Given the description of an element on the screen output the (x, y) to click on. 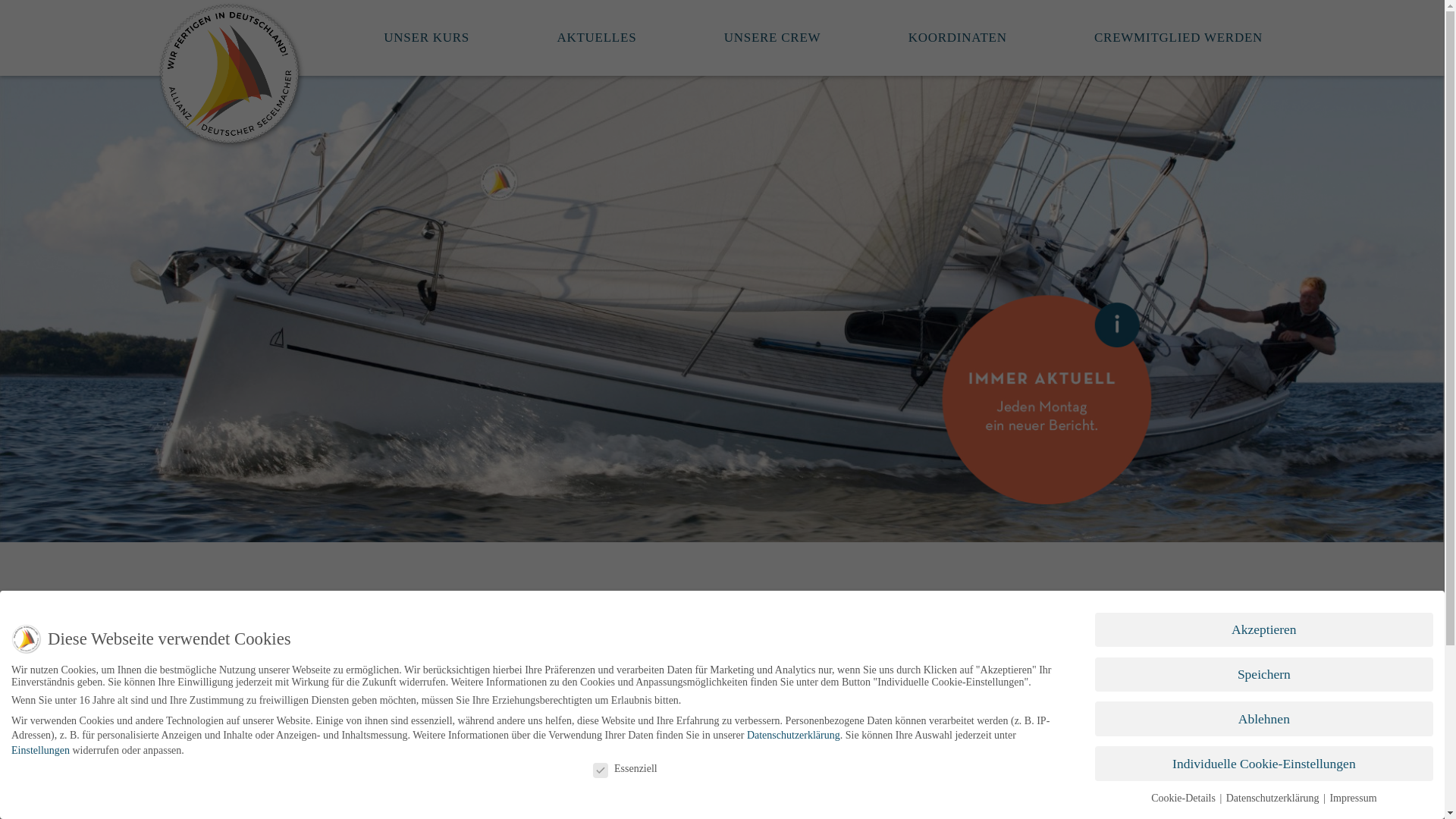
CREWMITGLIED WERDEN (1178, 37)
Unsere Crew (772, 37)
Individuelle Cookie-Einstellungen (1263, 755)
UNSER KURS (426, 37)
UNSERE CREW (772, 37)
Einstellungen (40, 723)
Allianz Deutscher Segelmacher Logo (231, 75)
KOORDINATEN (956, 37)
AKTUELLES (595, 37)
Ablehnen (1263, 707)
